Given the description of an element on the screen output the (x, y) to click on. 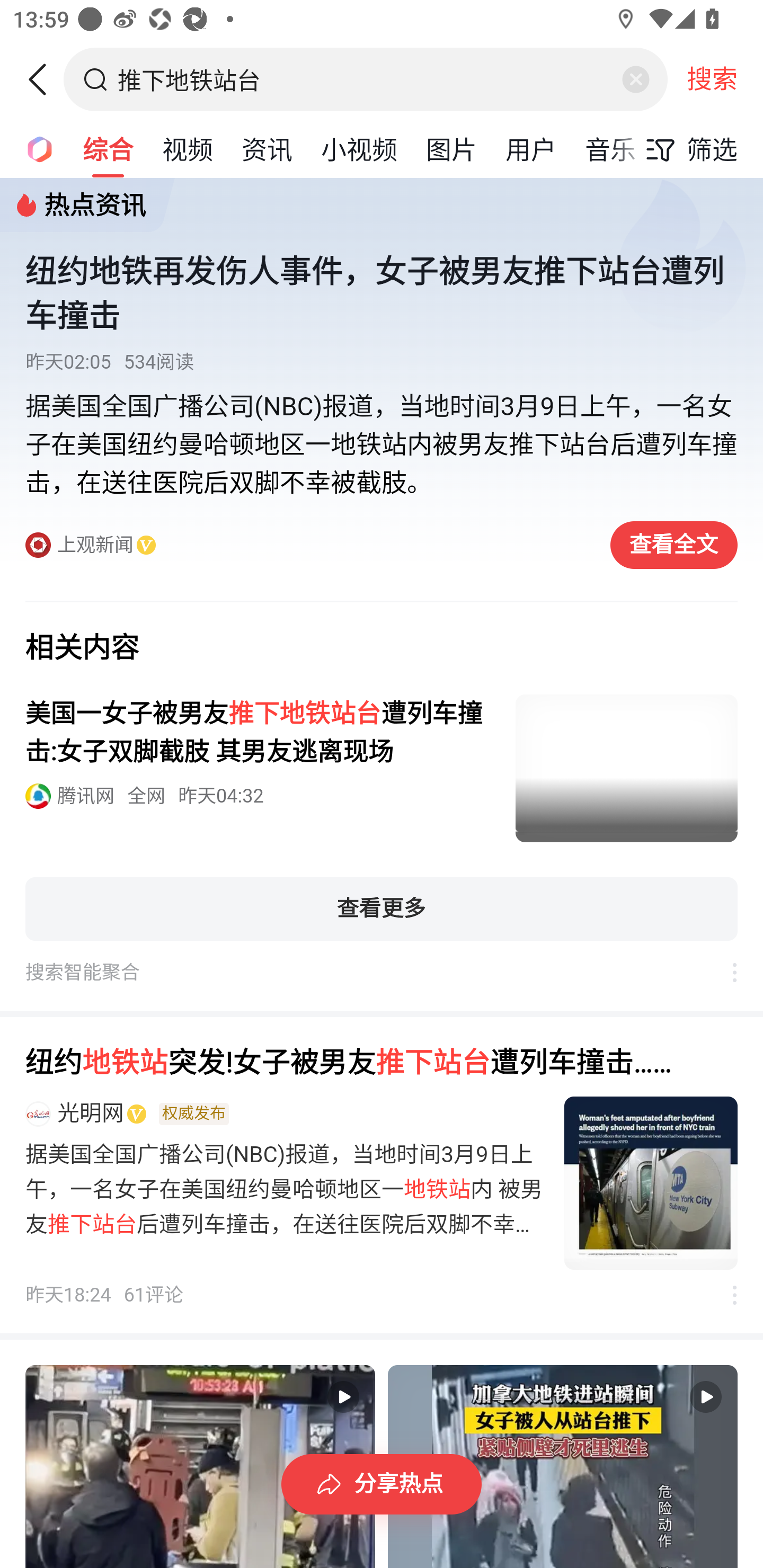
搜索框，推下地铁站台 (366, 79)
搜索 (711, 79)
返回 (44, 79)
清除 (635, 79)
视频 (187, 148)
资讯 (266, 148)
小视频 (359, 148)
图片 (451, 148)
用户 (530, 148)
音乐 (610, 148)
筛选 (686, 149)
AI问答 (34, 148)
昨天02:05534阅读 (381, 361)
查看全文 (673, 544)
上观新闻 (308, 545)
美国一女子被男友推下地铁站台遭列车撞击:女子双脚截肢 其男友逃离现场 来源: 腾讯网 (381, 768)
查看更多 (381, 909)
举报反馈 (724, 972)
昨天18:24 61评论 (104, 1295)
举报反馈 (724, 1295)
